Given the description of an element on the screen output the (x, y) to click on. 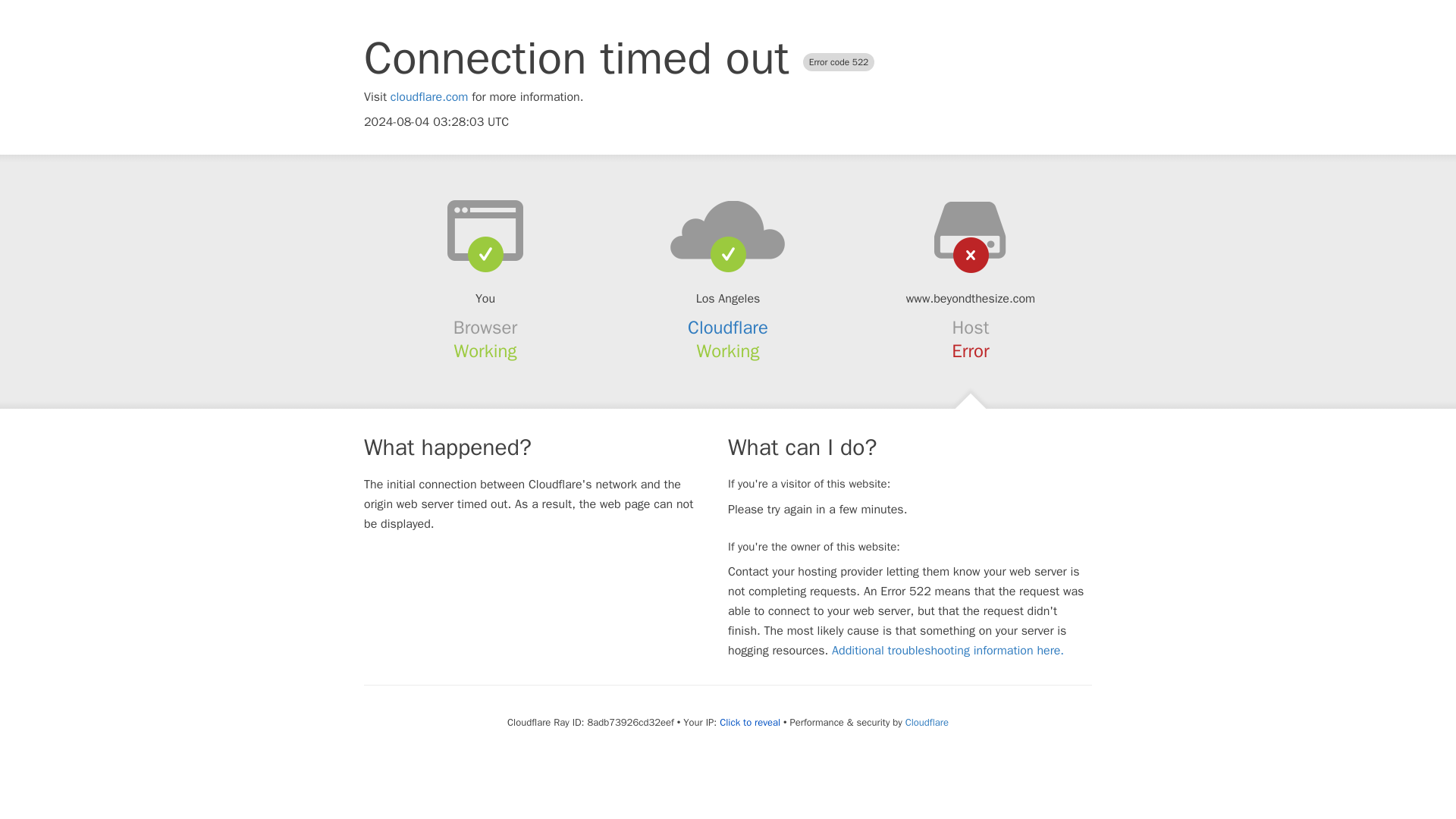
cloudflare.com (429, 96)
Cloudflare (727, 327)
Click to reveal (749, 722)
Cloudflare (927, 721)
Additional troubleshooting information here. (947, 650)
